Given the description of an element on the screen output the (x, y) to click on. 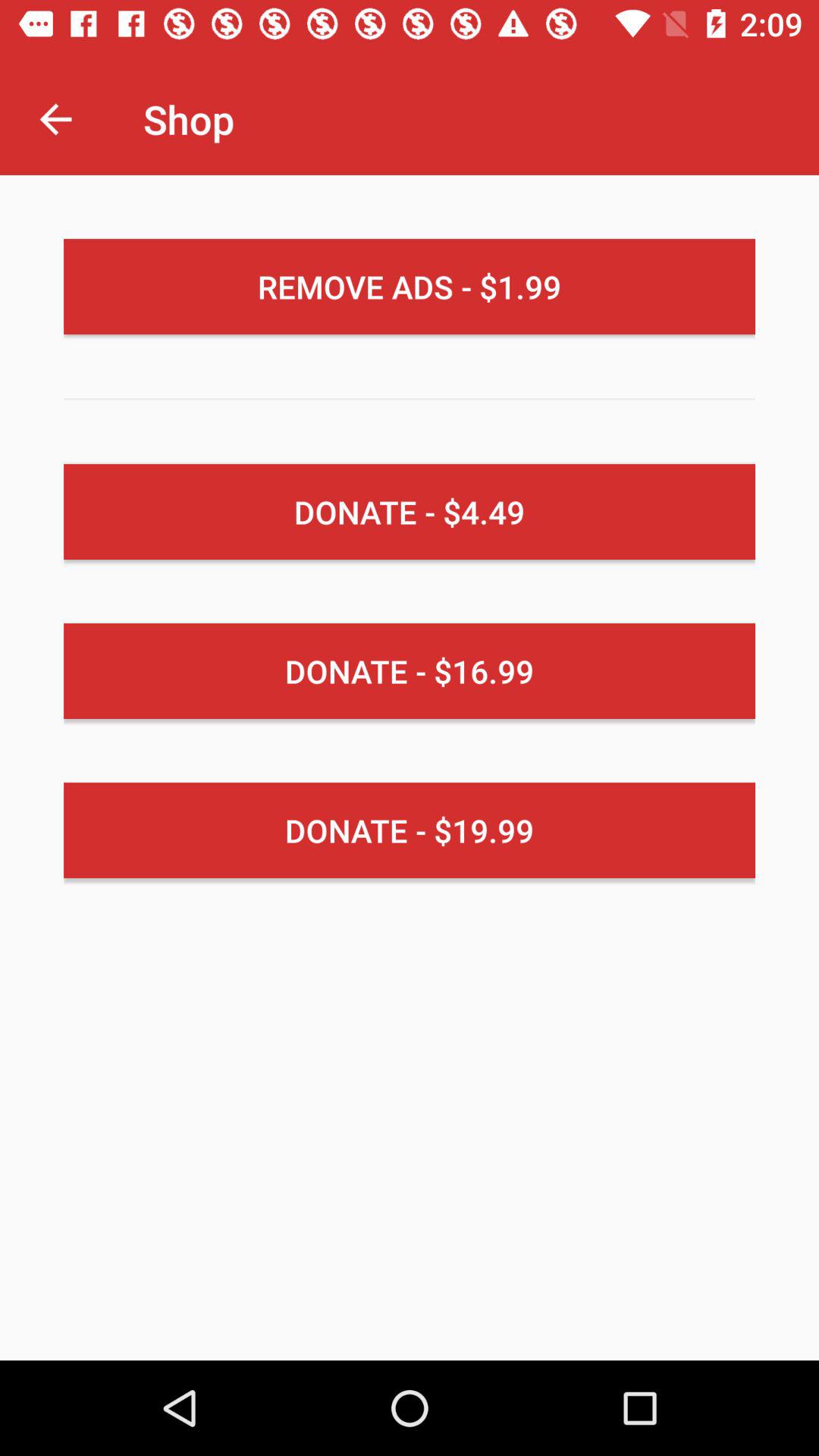
select item next to shop item (55, 119)
